Given the description of an element on the screen output the (x, y) to click on. 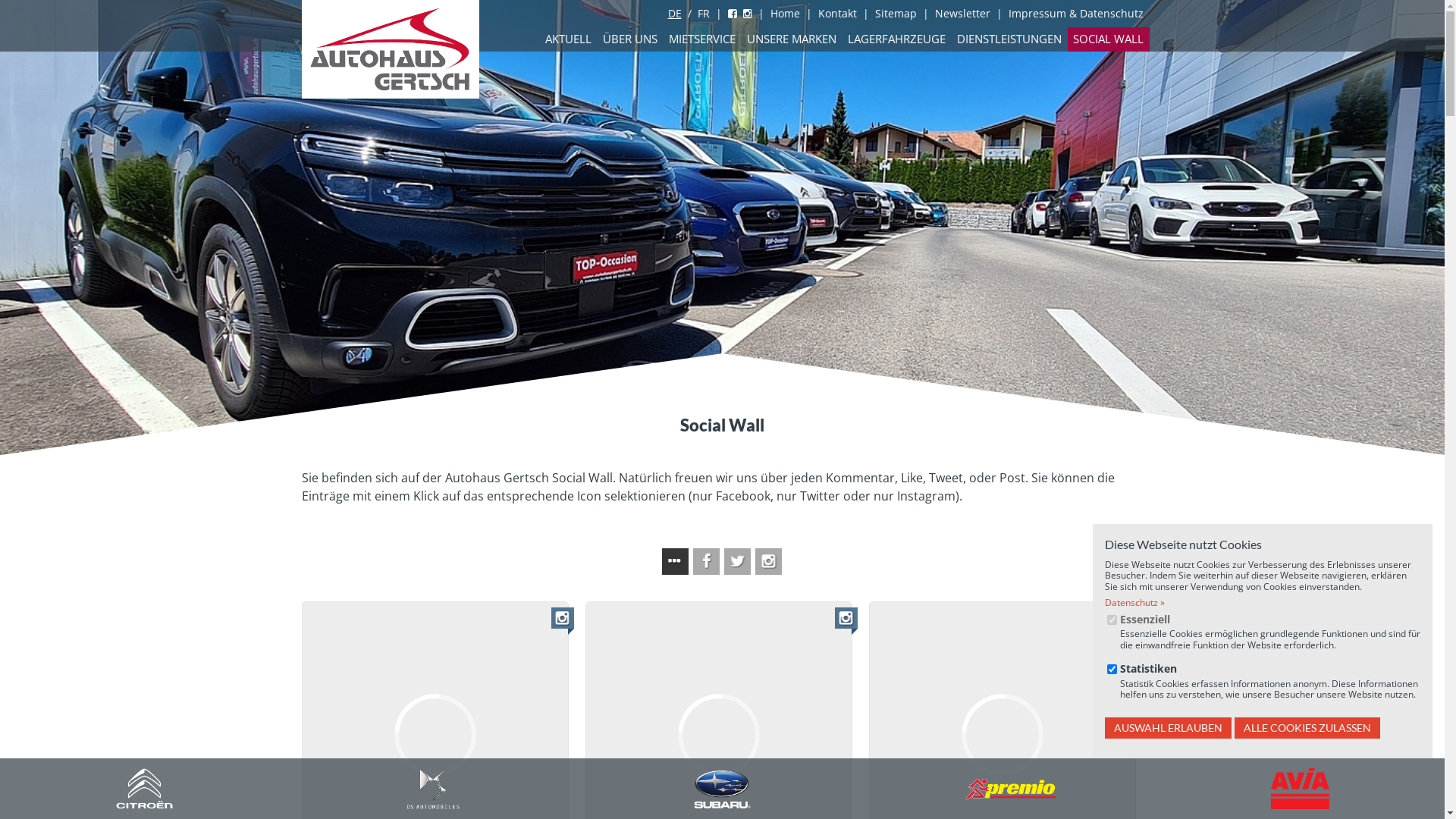
Home Element type: text (785, 13)
Impressum & Datenschutz Element type: text (1075, 13)
Alle Cookies zulassen Element type: text (1307, 727)
Instagram Element type: hover (747, 13)
AKTUELL Element type: text (568, 39)
DIENSTLEISTUNGEN Element type: text (1008, 39)
Show All Element type: hover (675, 561)
Facebook Element type: hover (732, 13)
DE Element type: text (673, 13)
SOCIAL WALL Element type: text (1108, 39)
UNSERE MARKEN Element type: text (791, 39)
LAGERFAHRZEUGE Element type: text (895, 39)
Sitemap Element type: text (895, 13)
Newsletter Element type: text (961, 13)
MIETSERVICE Element type: text (701, 39)
Auswahl erlauben Element type: text (1167, 727)
Kontakt Element type: text (836, 13)
FR Element type: text (703, 13)
